Given the description of an element on the screen output the (x, y) to click on. 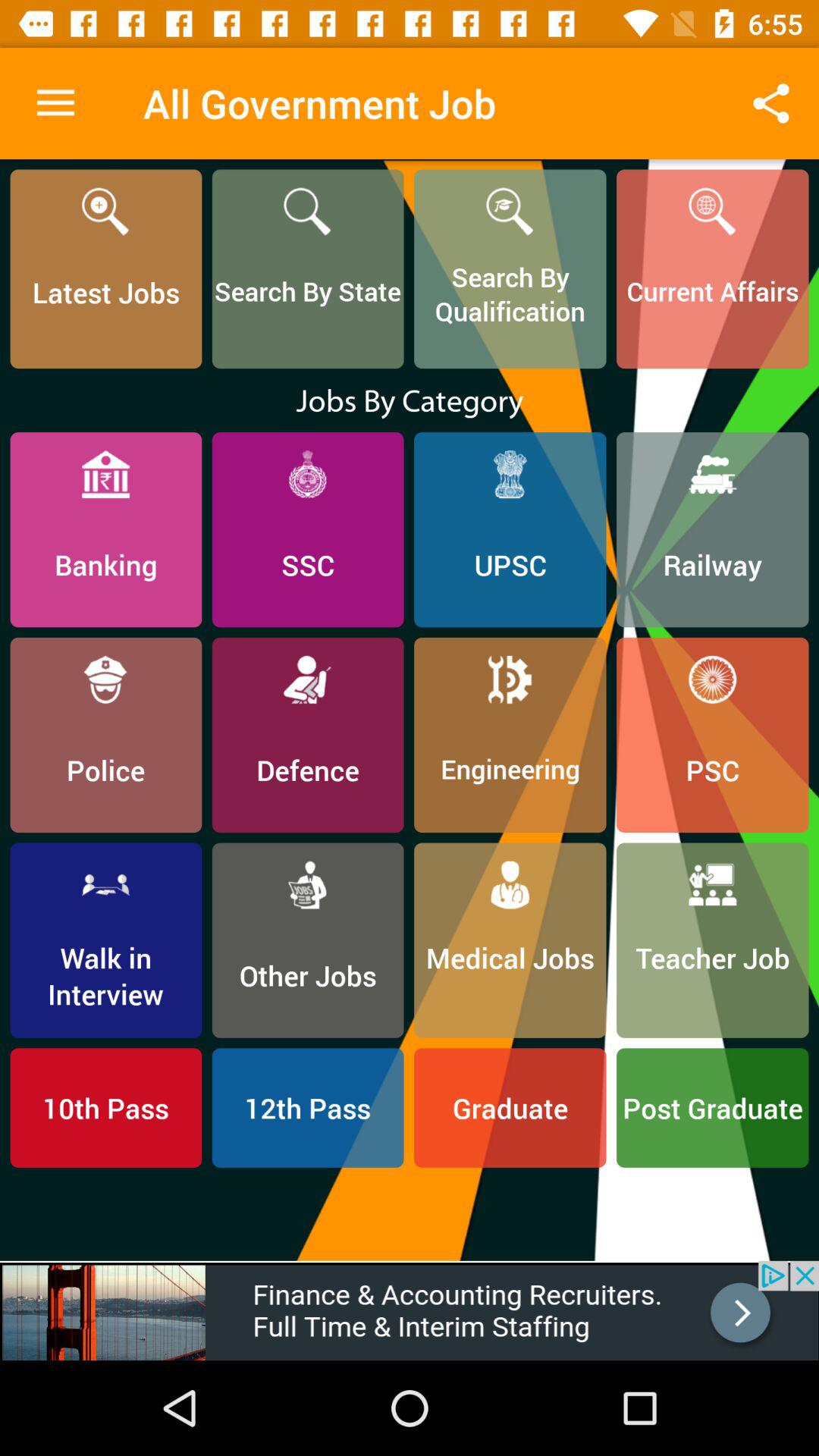
adventisment page (409, 1310)
